Given the description of an element on the screen output the (x, y) to click on. 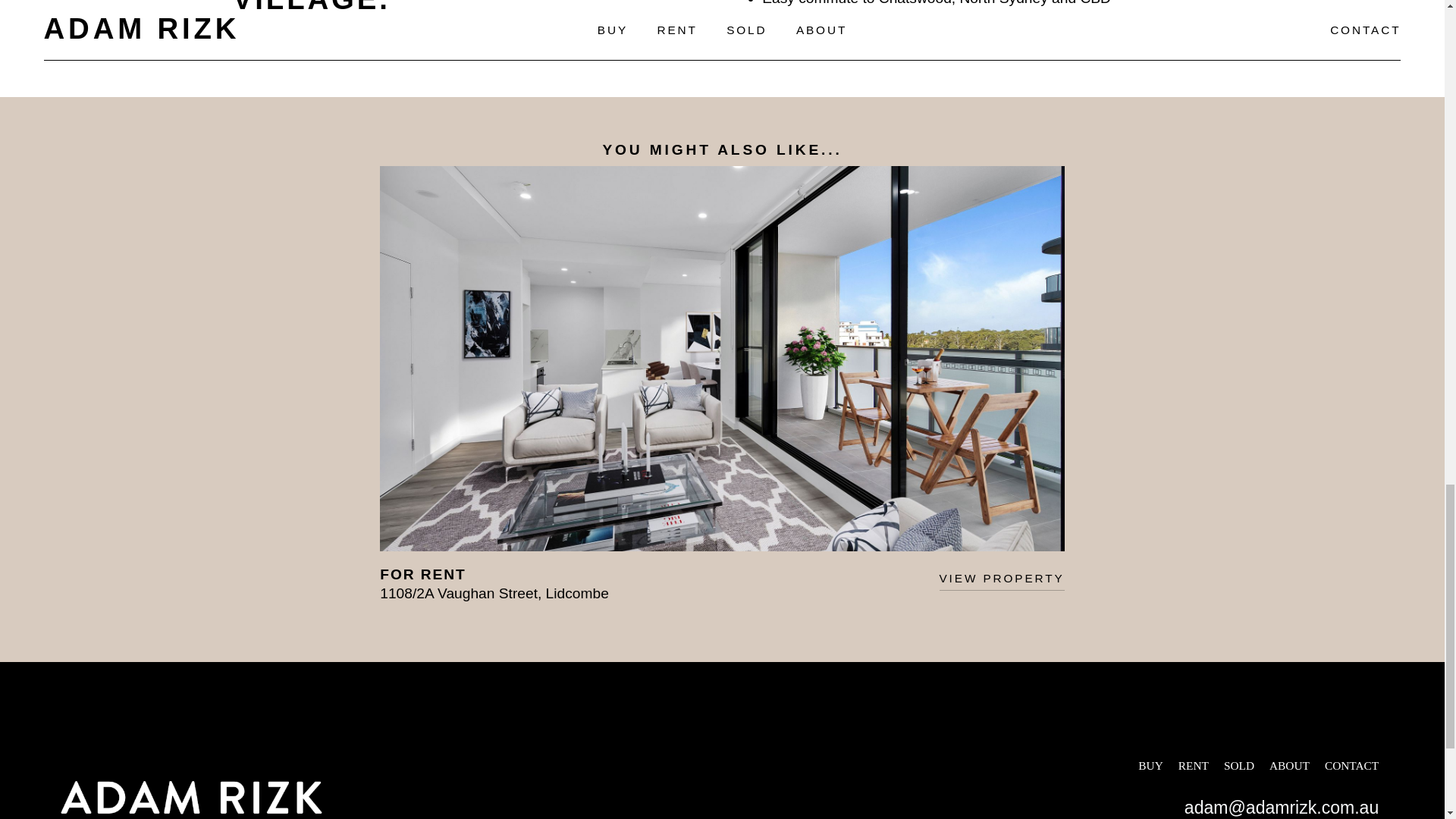
RENT (1192, 765)
BUY (1149, 765)
VIEW PROPERTY (1001, 577)
ABOUT (1288, 765)
CONTACT (1351, 765)
SOLD (1238, 765)
